Given the description of an element on the screen output the (x, y) to click on. 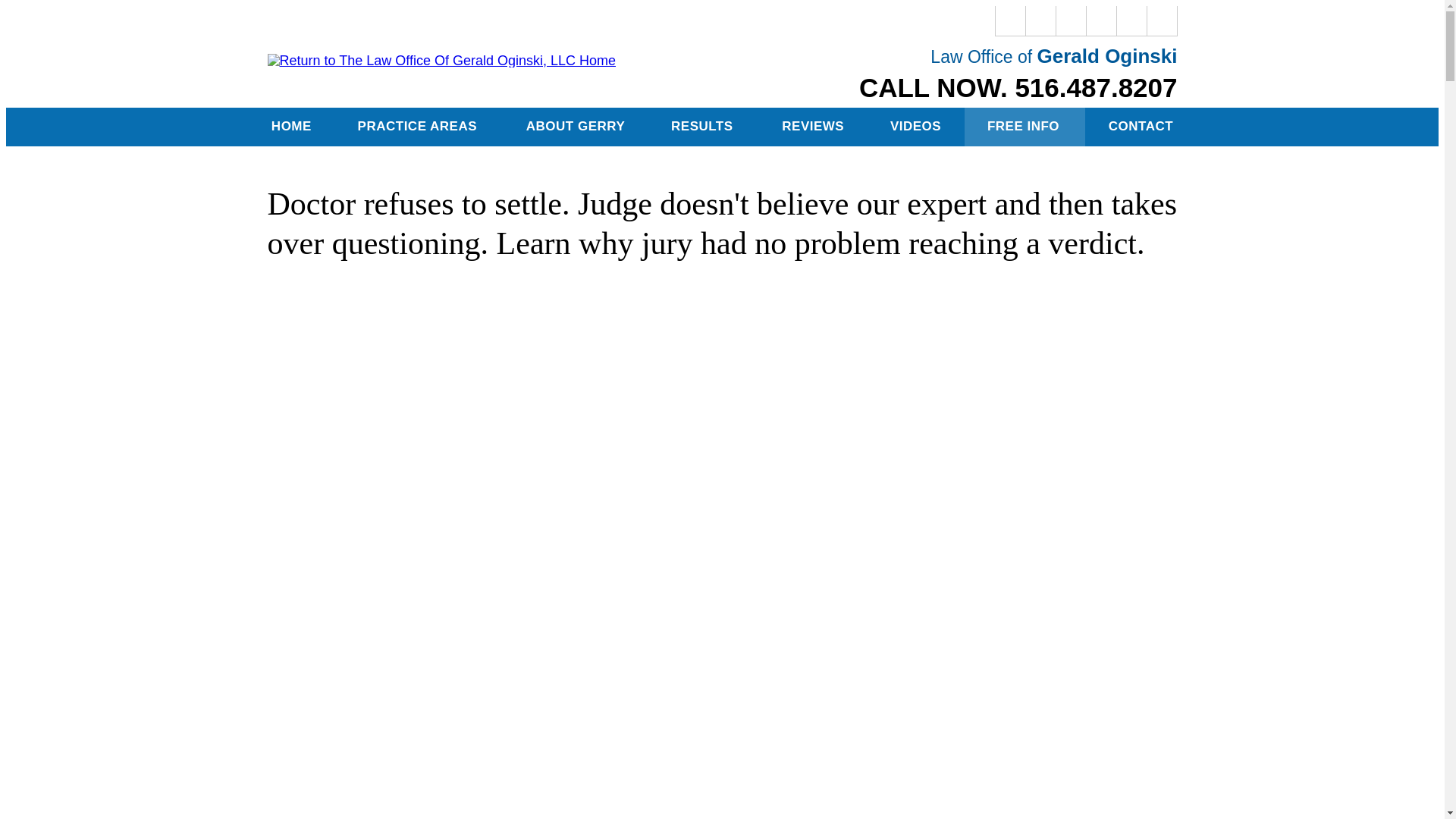
REVIEWS (812, 126)
VIDEOS (915, 126)
Search (1161, 20)
FREE INFO (1024, 126)
ABOUT GERRY (574, 126)
CONTACT (1139, 126)
RESULTS (702, 126)
HOME (291, 126)
PRACTICE AREAS (418, 126)
